Given the description of an element on the screen output the (x, y) to click on. 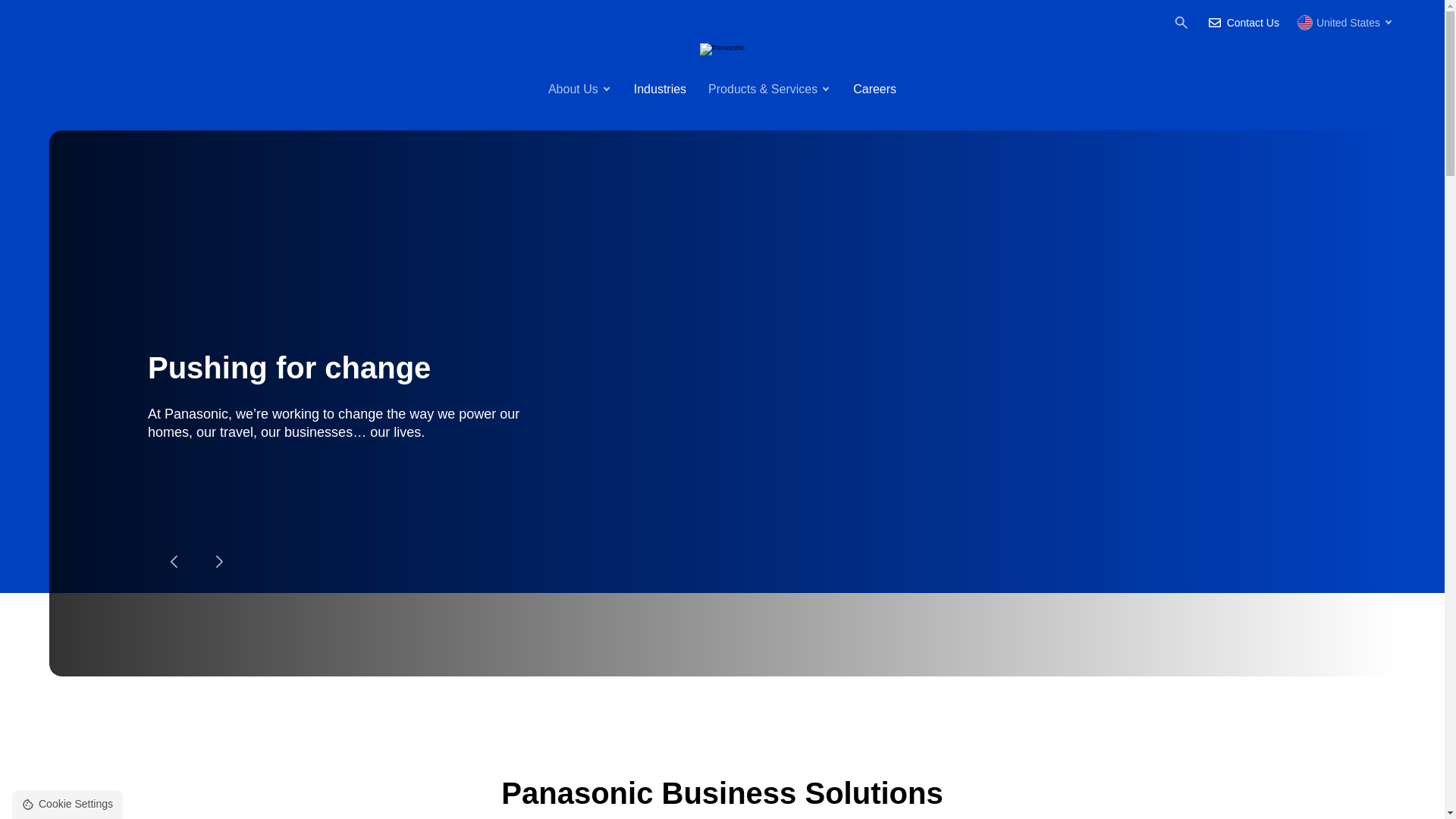
About Us (579, 90)
Industries (659, 90)
